Given the description of an element on the screen output the (x, y) to click on. 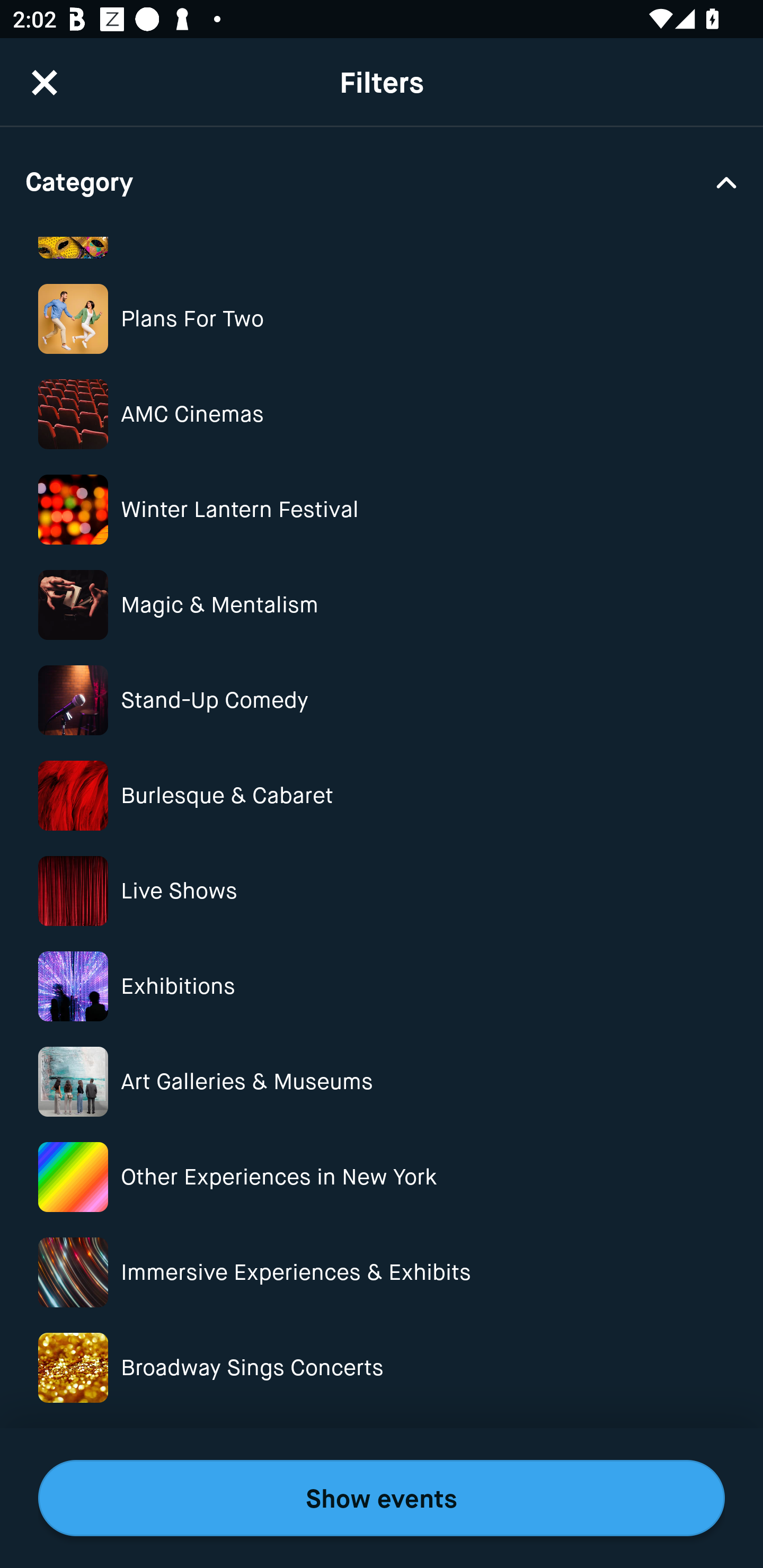
Category Drop Down Arrow (381, 181)
Category Image Plans For Two (381, 318)
Category Image AMC Cinemas (381, 414)
Category Image Winter Lantern Festival (381, 509)
Category Image Magic & Mentalism (381, 604)
Category Image Stand-Up Comedy (381, 699)
Category Image Burlesque & Cabaret (381, 795)
Category Image Live Shows (381, 890)
Category Image Exhibitions (381, 985)
Category Image Art Galleries & Museums (381, 1081)
Category Image Other Experiences in New York (381, 1176)
Category Image Immersive Experiences & Exhibits (381, 1272)
Category Image Broadway Sings Concerts (381, 1367)
Show events (381, 1497)
